Given the description of an element on the screen output the (x, y) to click on. 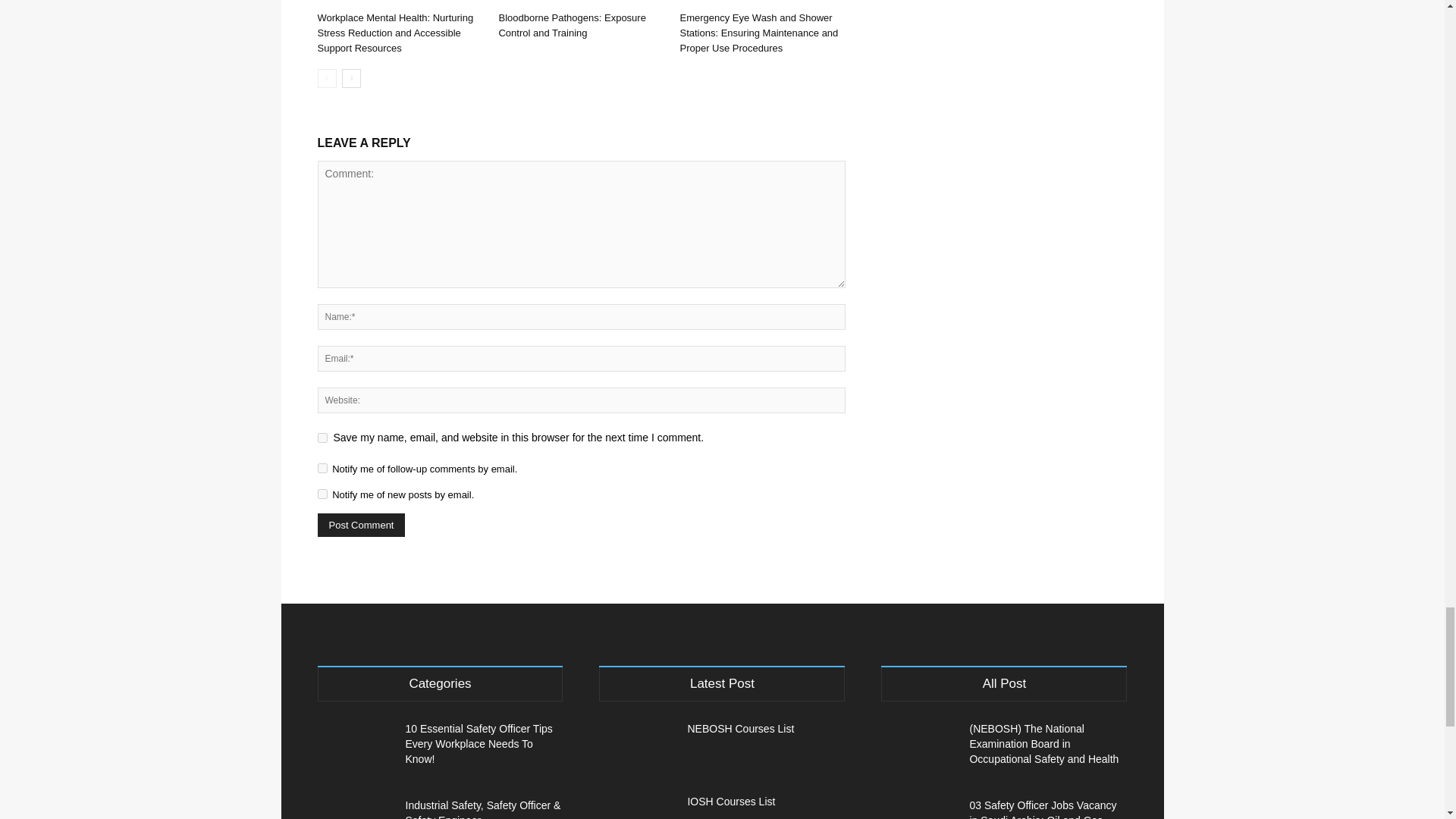
subscribe (321, 493)
subscribe (321, 468)
yes (321, 438)
Post Comment (360, 525)
